Given the description of an element on the screen output the (x, y) to click on. 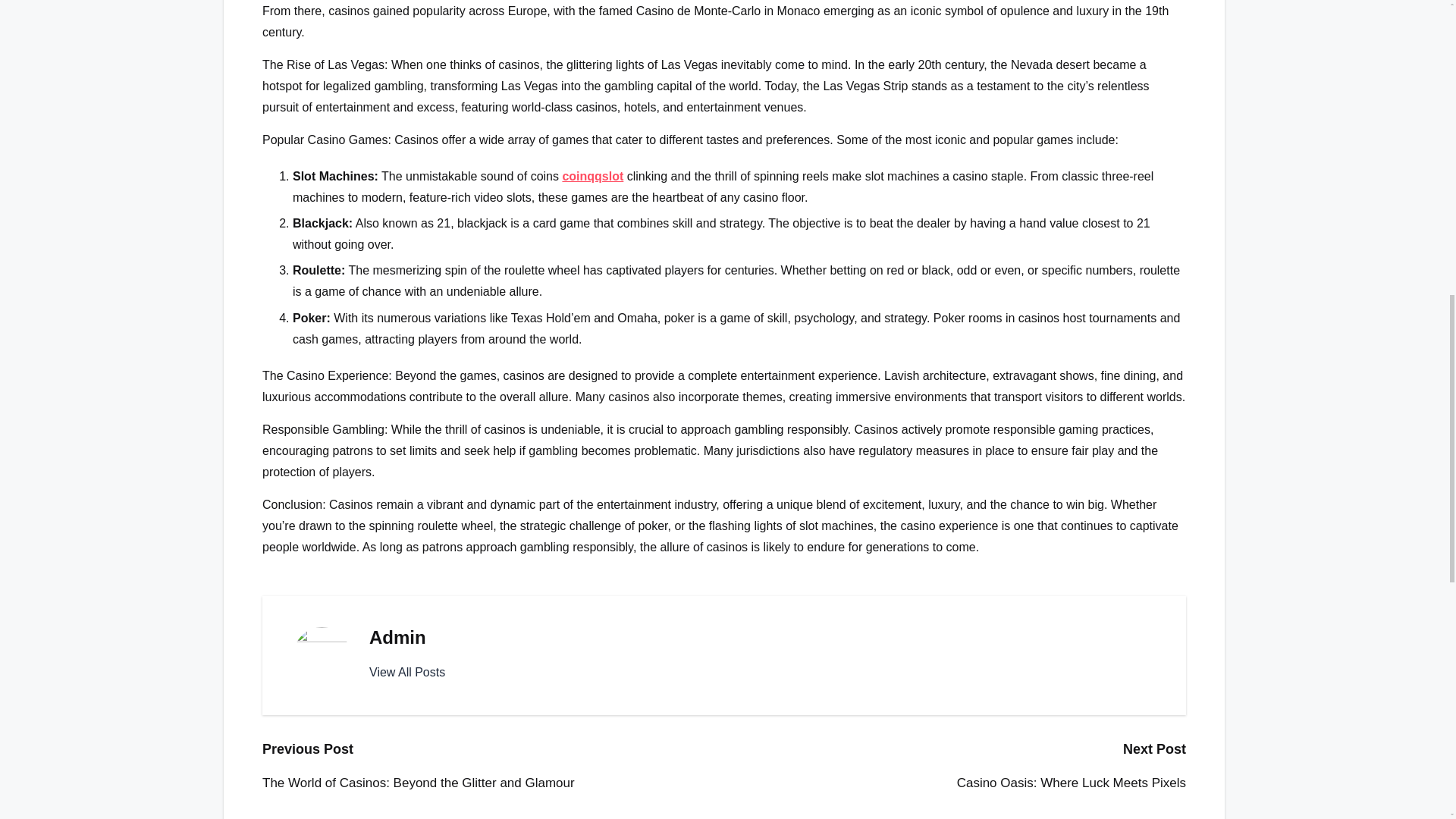
View All Posts (407, 672)
The World of Casinos: Beyond the Glitter and Glamour (492, 783)
Casino Oasis: Where Luck Meets Pixels (954, 783)
Admin (397, 637)
coinqqslot (592, 175)
